Given the description of an element on the screen output the (x, y) to click on. 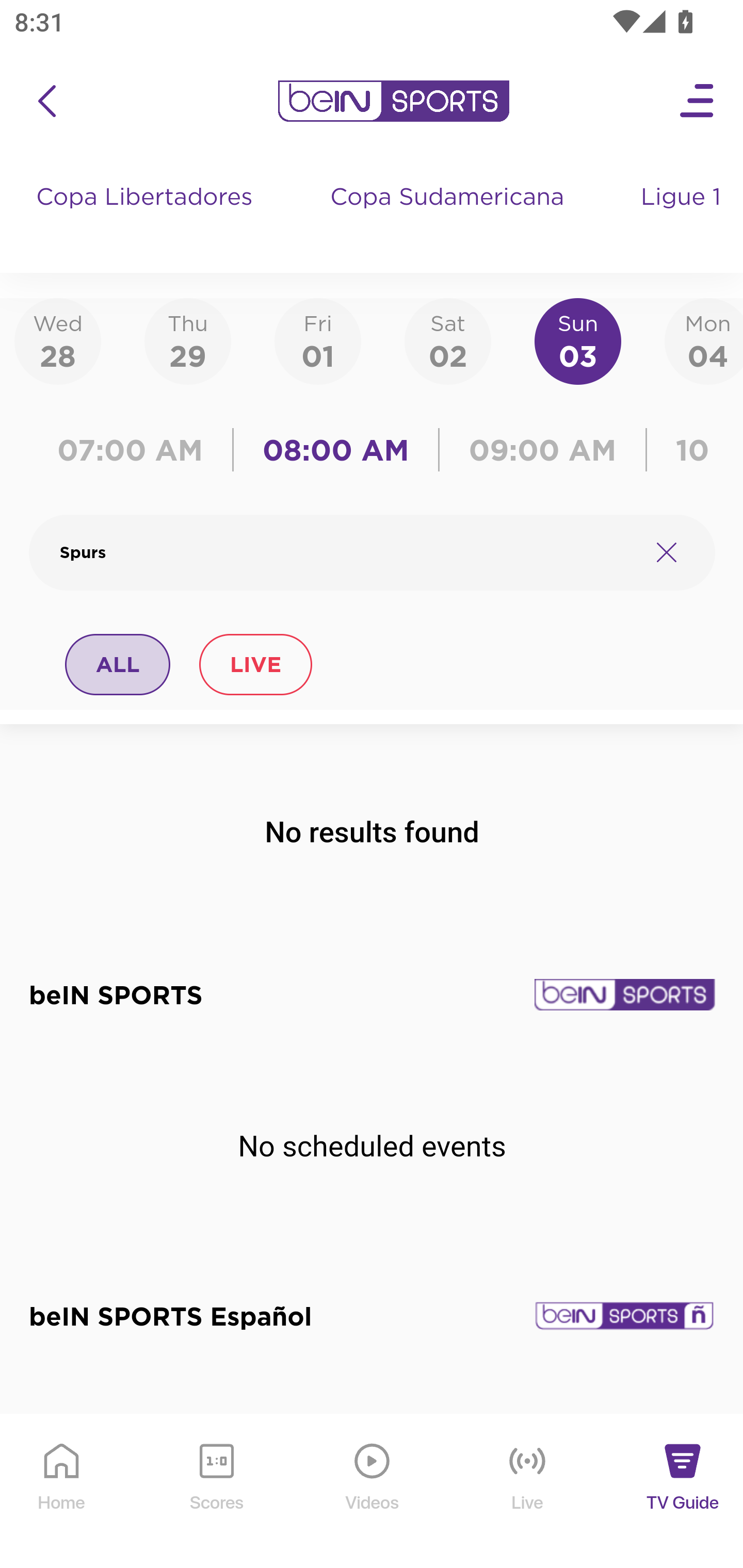
en-us?platform=mobile_android bein logo (392, 101)
icon back (46, 101)
Open Menu Icon (697, 101)
Copa Libertadores (146, 216)
Copa Sudamericana (448, 216)
Ligue 1 (682, 216)
Wed28 (58, 340)
Thu29 (187, 340)
Fri01 (318, 340)
Sat02 (447, 340)
Sun03 (578, 340)
Mon04 (703, 340)
07:00 AM (135, 449)
08:00 AM (336, 449)
09:00 AM (542, 449)
Spurs (346, 552)
ALL (118, 663)
LIVE (255, 663)
Home Home Icon Home (61, 1491)
Scores Scores Icon Scores (216, 1491)
Videos Videos Icon Videos (372, 1491)
TV Guide TV Guide Icon TV Guide (682, 1491)
